Given the description of an element on the screen output the (x, y) to click on. 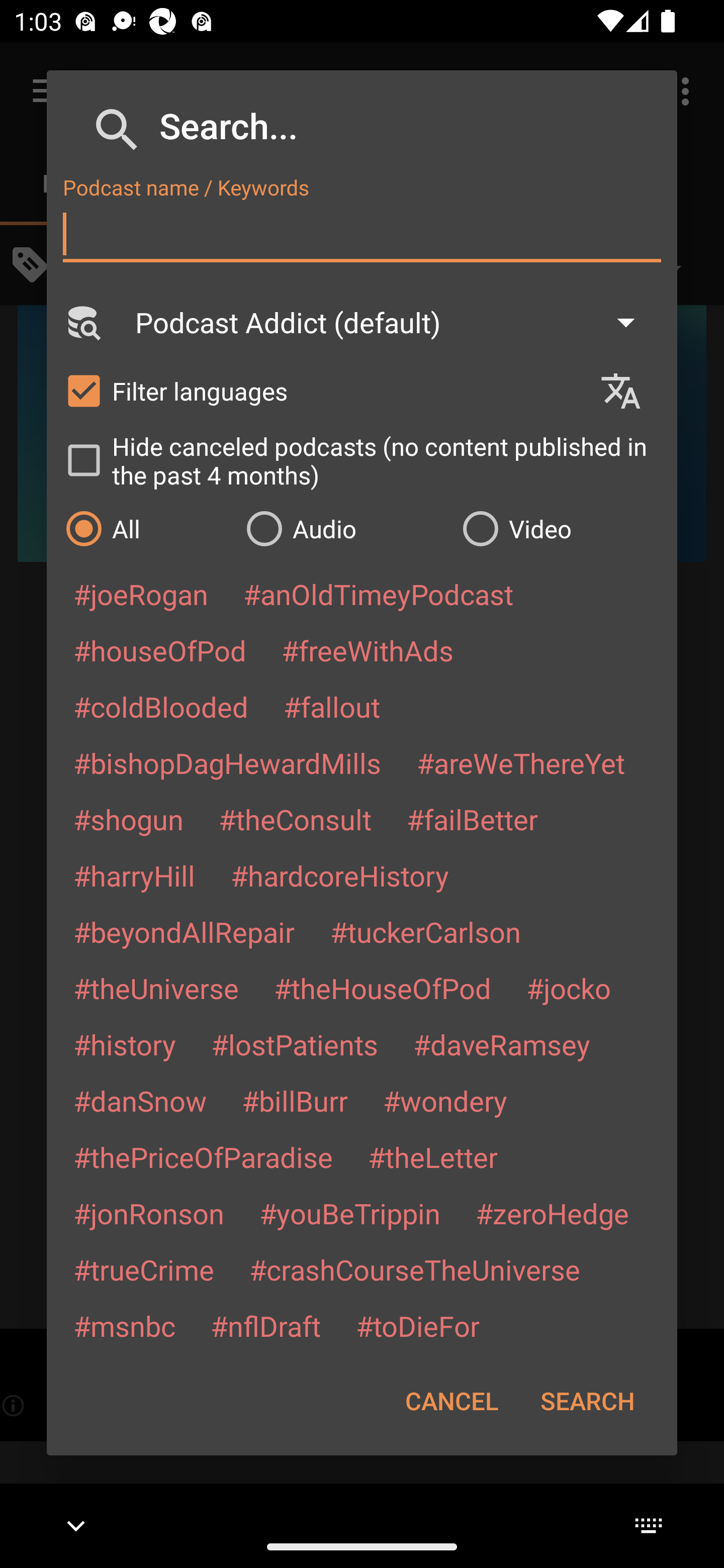
Podcast name / Keywords (361, 234)
Search Engine (82, 322)
Podcast Addict (default) (394, 322)
Languages selection (629, 390)
Filter languages (322, 390)
All (145, 528)
Audio (344, 528)
Video (560, 528)
#joeRogan (140, 594)
#anOldTimeyPodcast (378, 594)
#houseOfPod (159, 650)
#freeWithAds (367, 650)
#coldBlooded (160, 705)
#fallout (331, 705)
#bishopDagHewardMills (227, 762)
#areWeThereYet (521, 762)
#shogun (128, 818)
#theConsult (294, 818)
#failBetter (471, 818)
#harryHill (134, 875)
#hardcoreHistory (339, 875)
#beyondAllRepair (184, 931)
#tuckerCarlson (425, 931)
#theUniverse (155, 987)
#theHouseOfPod (381, 987)
#jocko (568, 987)
#history (124, 1044)
#lostPatients (294, 1044)
#daveRamsey (501, 1044)
#danSnow (139, 1100)
#billBurr (294, 1100)
#wondery (444, 1100)
#thePriceOfParadise (203, 1157)
#theLetter (432, 1157)
#jonRonson (148, 1213)
#youBeTrippin (349, 1213)
#zeroHedge (552, 1213)
#trueCrime (143, 1268)
#crashCourseTheUniverse (414, 1268)
#msnbc (124, 1325)
#nflDraft (265, 1325)
#toDieFor (417, 1325)
CANCEL (451, 1400)
SEARCH (587, 1400)
